Given the description of an element on the screen output the (x, y) to click on. 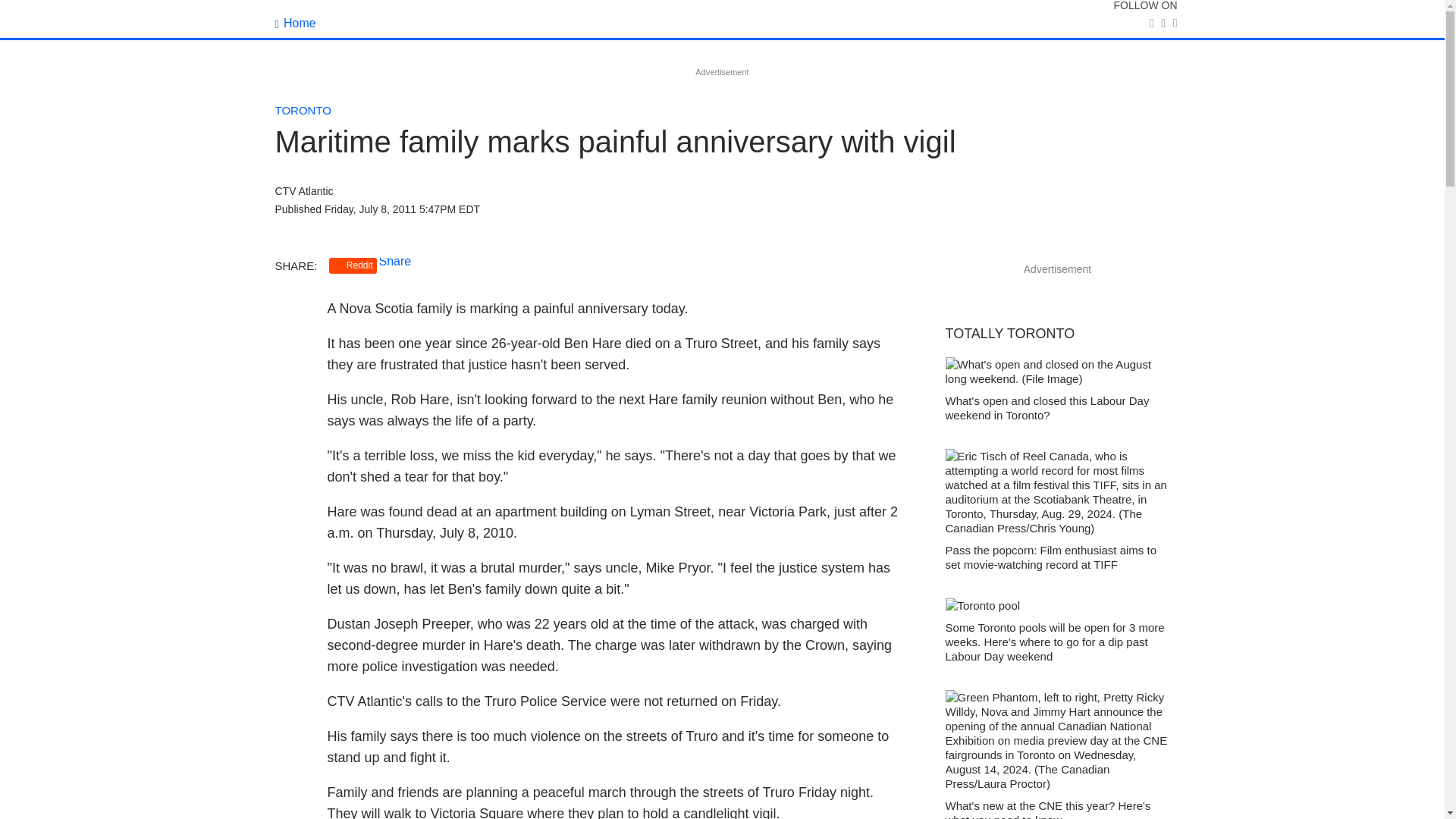
TORONTO (302, 110)
Share (395, 260)
Home (295, 22)
Reddit (353, 265)
